Given the description of an element on the screen output the (x, y) to click on. 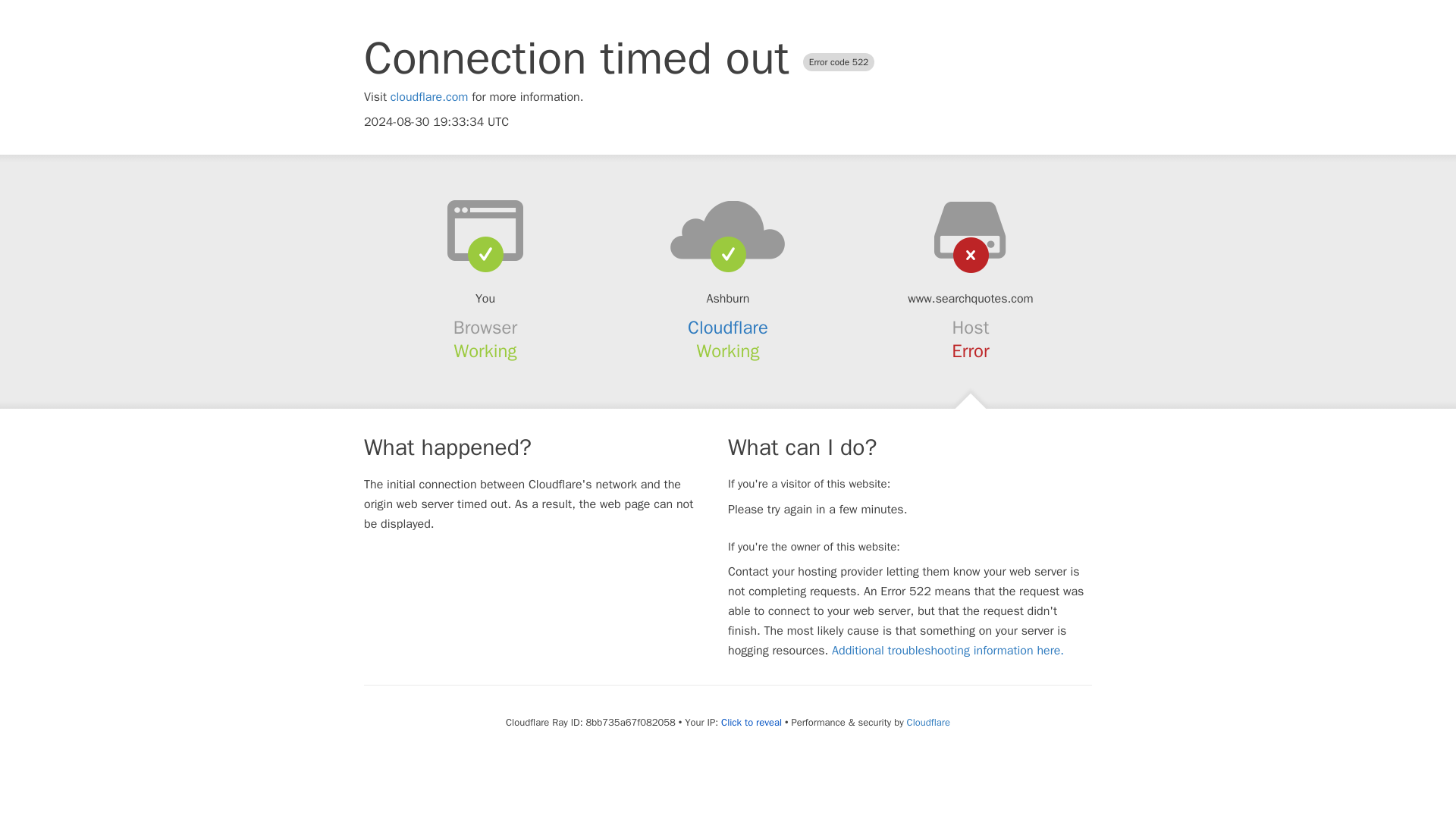
Cloudflare (928, 721)
cloudflare.com (429, 96)
Cloudflare (727, 327)
Click to reveal (750, 722)
Additional troubleshooting information here. (947, 650)
